Given the description of an element on the screen output the (x, y) to click on. 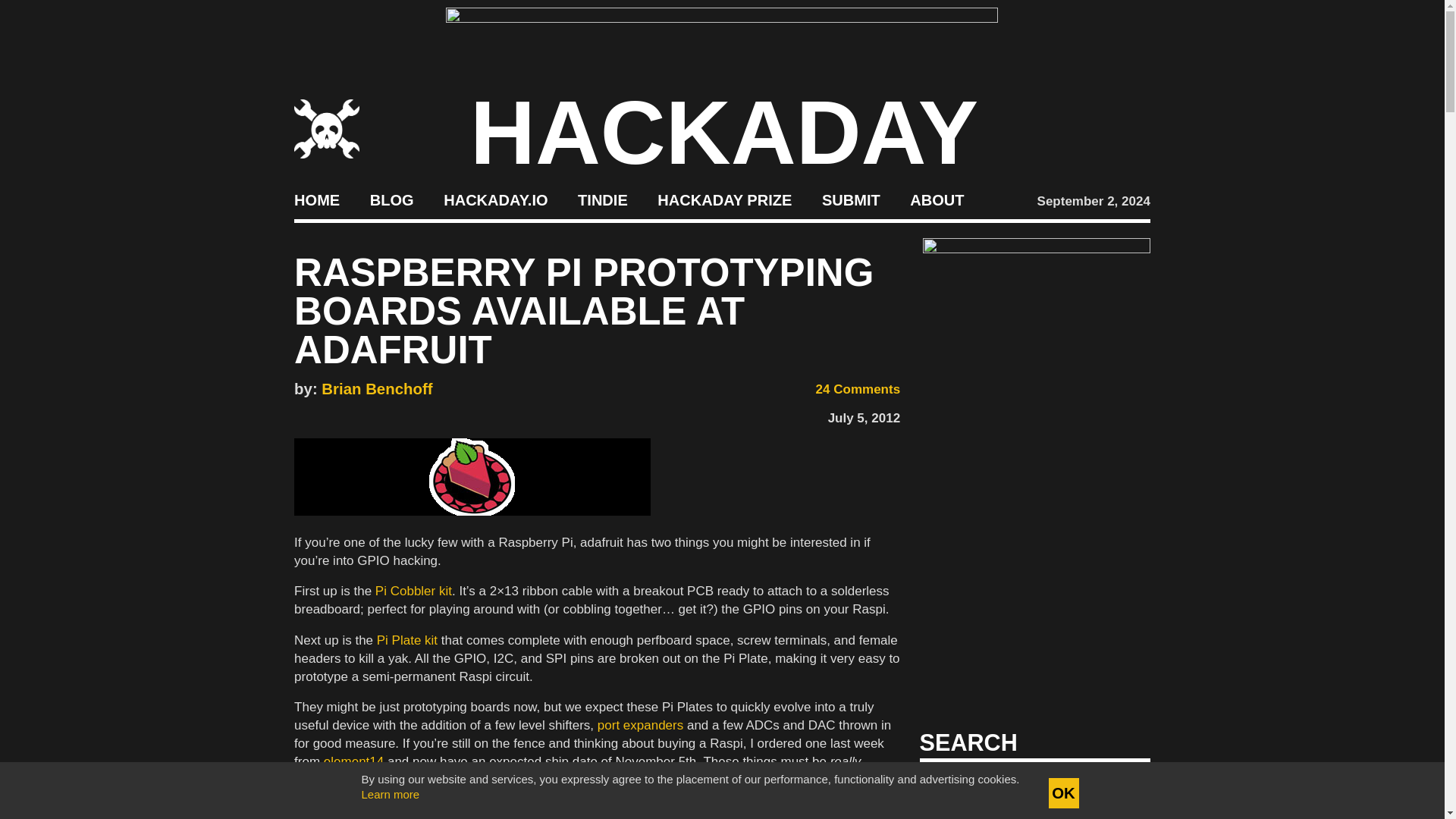
Search (1115, 787)
Build Something that Matters (725, 200)
Share on Hacker News (347, 414)
BLOG (391, 200)
HOME (316, 200)
HACKADAY (724, 131)
Posts by Brian Benchoff (376, 388)
Share on Twitter (324, 414)
TINDIE (602, 200)
port expanders (639, 725)
